Given the description of an element on the screen output the (x, y) to click on. 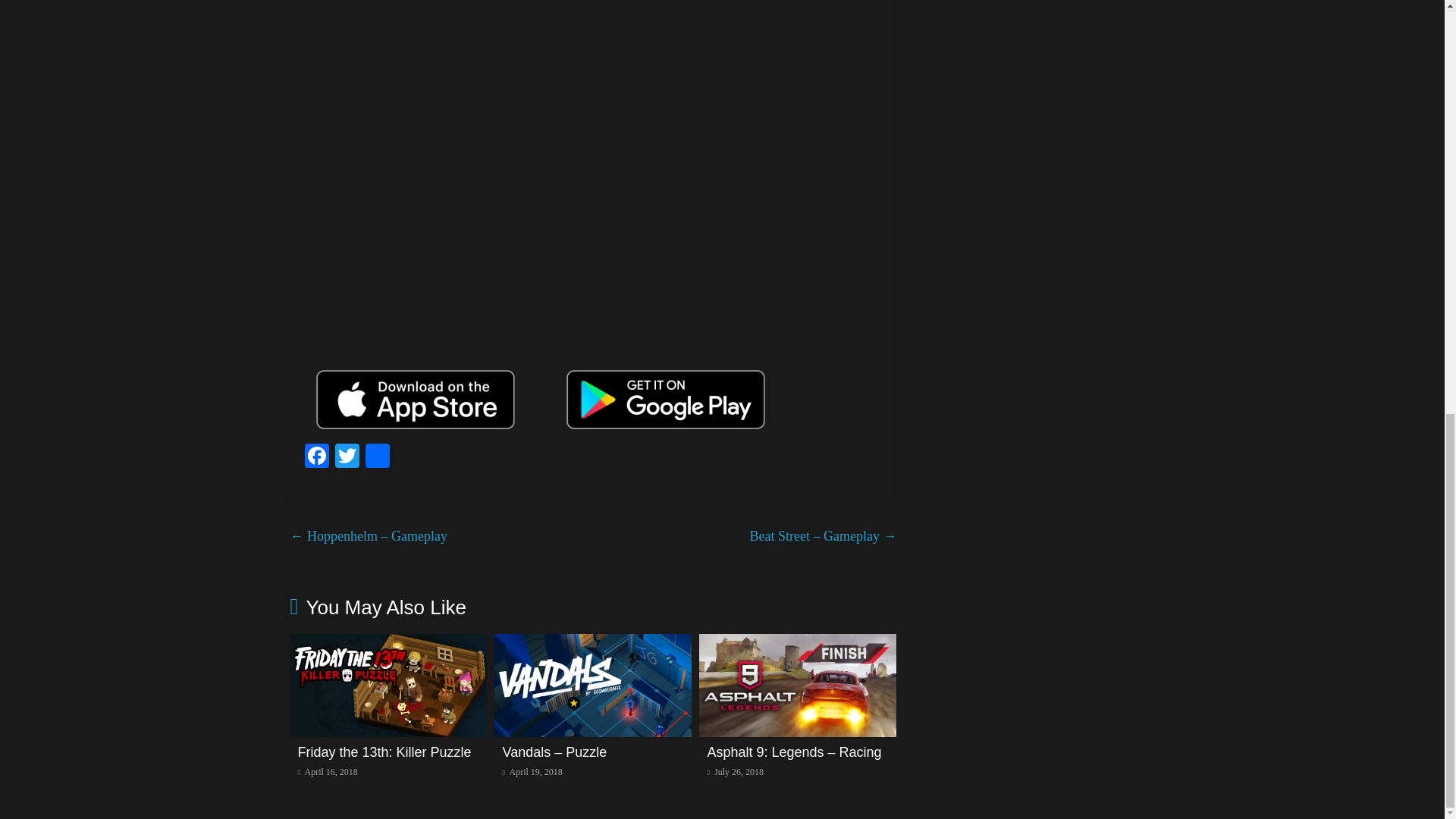
Friday the 13th: Killer Puzzle (387, 643)
Friday the 13th: Killer Puzzle (383, 752)
Friday the 13th: Killer Puzzle (383, 752)
Twitter (346, 457)
7:36 pm (532, 771)
April 19, 2018 (532, 771)
Facebook (316, 457)
Facebook (316, 457)
Twitter (346, 457)
April 16, 2018 (326, 771)
